Given the description of an element on the screen output the (x, y) to click on. 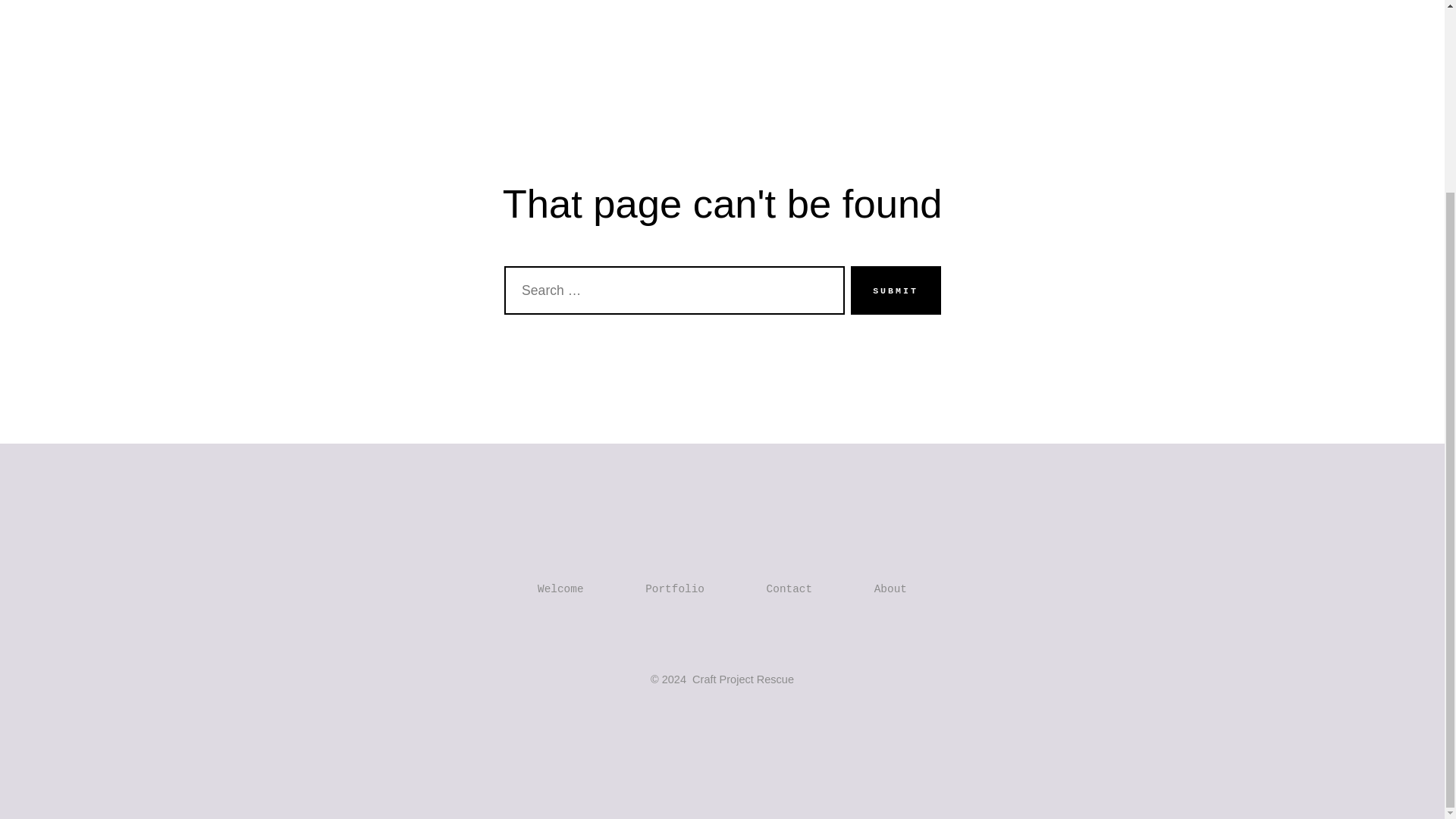
Welcome (603, 0)
Portfolio (674, 588)
SUBMIT (895, 290)
Contact (788, 588)
About (890, 588)
About (846, 0)
Contact (773, 0)
Portfolio (689, 0)
Welcome (560, 588)
